Given the description of an element on the screen output the (x, y) to click on. 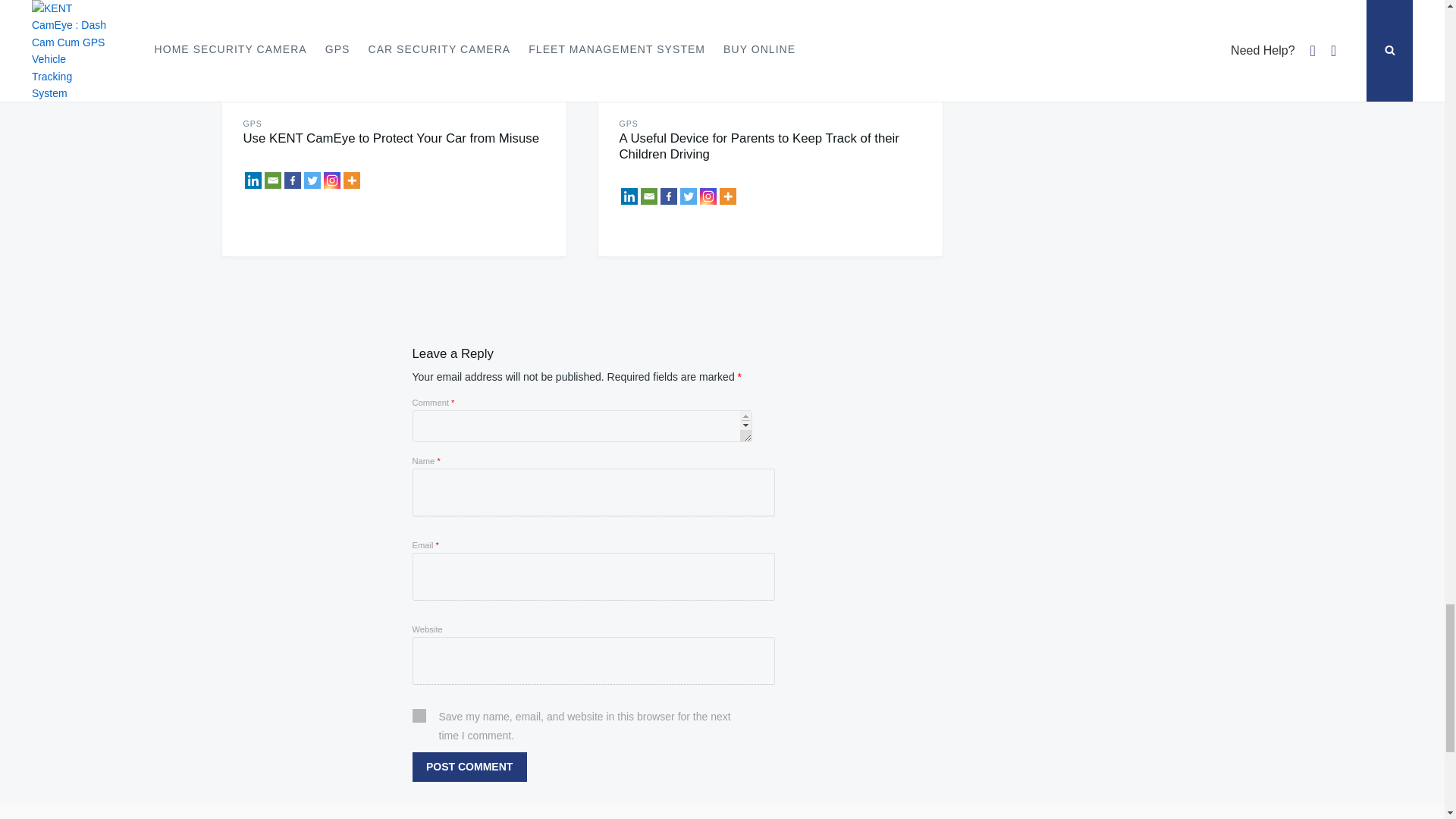
Twitter (311, 180)
Post Comment (469, 767)
Email (272, 180)
Facebook (291, 180)
Linkedin (252, 180)
Use KENT CamEye to Protect Your Car from Misuse (334, 46)
